Given the description of an element on the screen output the (x, y) to click on. 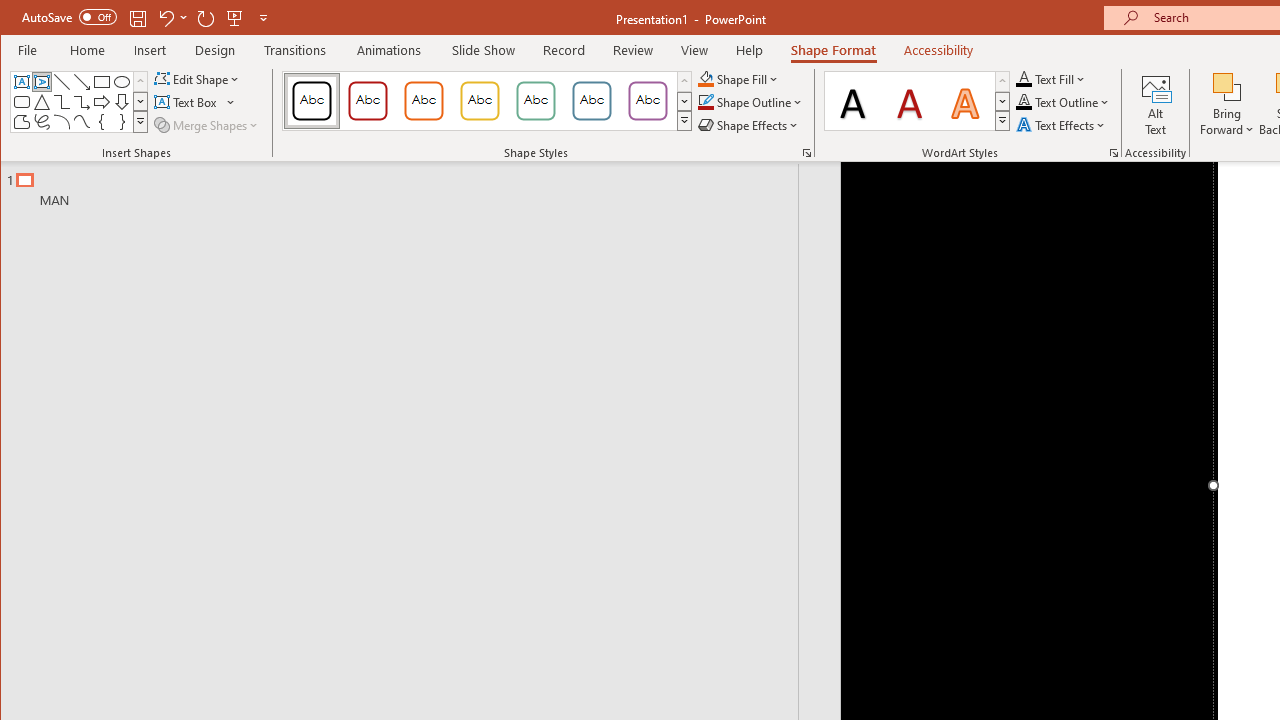
Fill: Dark Red, Accent color 1; Shadow (909, 100)
Shape Outline Blue, Accent 1 (705, 101)
Colored Outline - Black, Dark 1 (312, 100)
Colored Outline - Orange, Accent 2 (423, 100)
